Given the description of an element on the screen output the (x, y) to click on. 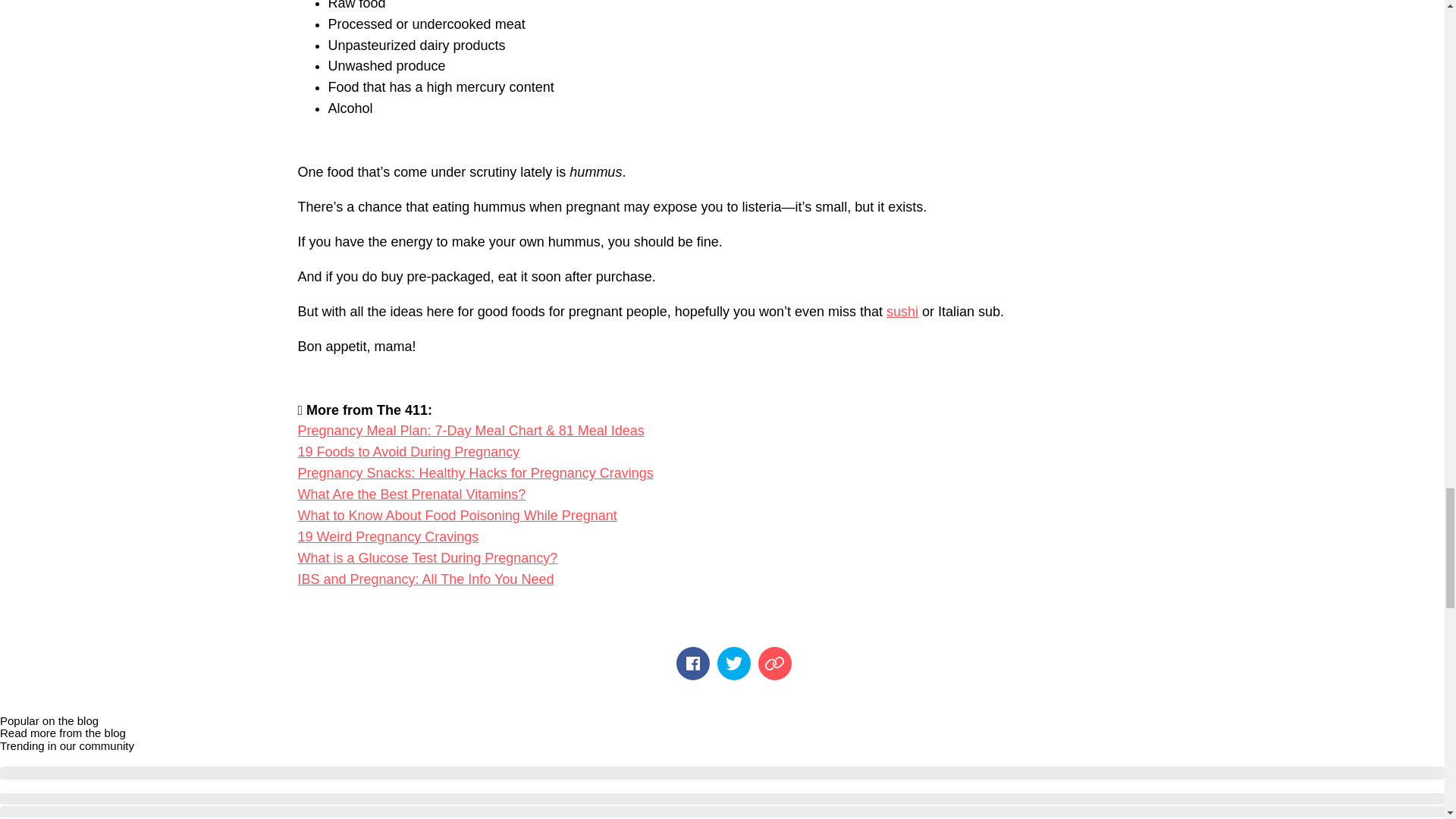
19 Foods to Avoid During Pregnancy (408, 451)
What to Know About Food Poisoning While Pregnant (456, 515)
19 Weird Pregnancy Cravings (388, 536)
What Are the Best Prenatal Vitamins? (411, 494)
IBS and Pregnancy: All The Info You Need (425, 579)
What is a Glucose Test During Pregnancy? (427, 557)
sushi (902, 311)
Pregnancy Snacks: Healthy Hacks for Pregnancy Cravings (474, 473)
